Given the description of an element on the screen output the (x, y) to click on. 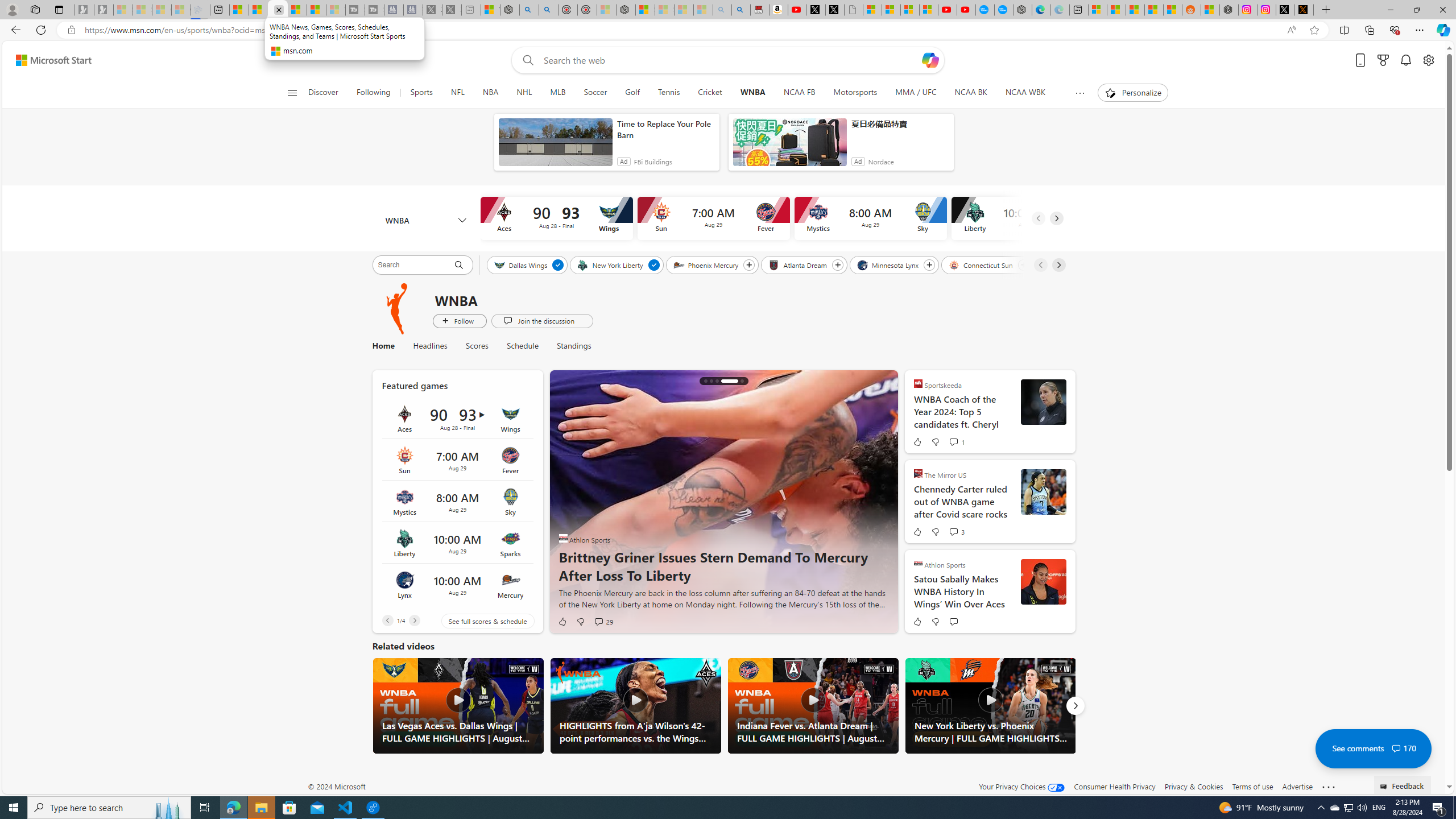
Follow Phoenix Mercury (749, 265)
Schedule (522, 345)
Unfollow New York Liberty (653, 265)
Like (916, 621)
Advertise (1297, 785)
Sun vs Fever Time 7:00 AM Date Aug 29 (456, 459)
NCAA WBK (1024, 92)
New York Liberty (611, 264)
